Given the description of an element on the screen output the (x, y) to click on. 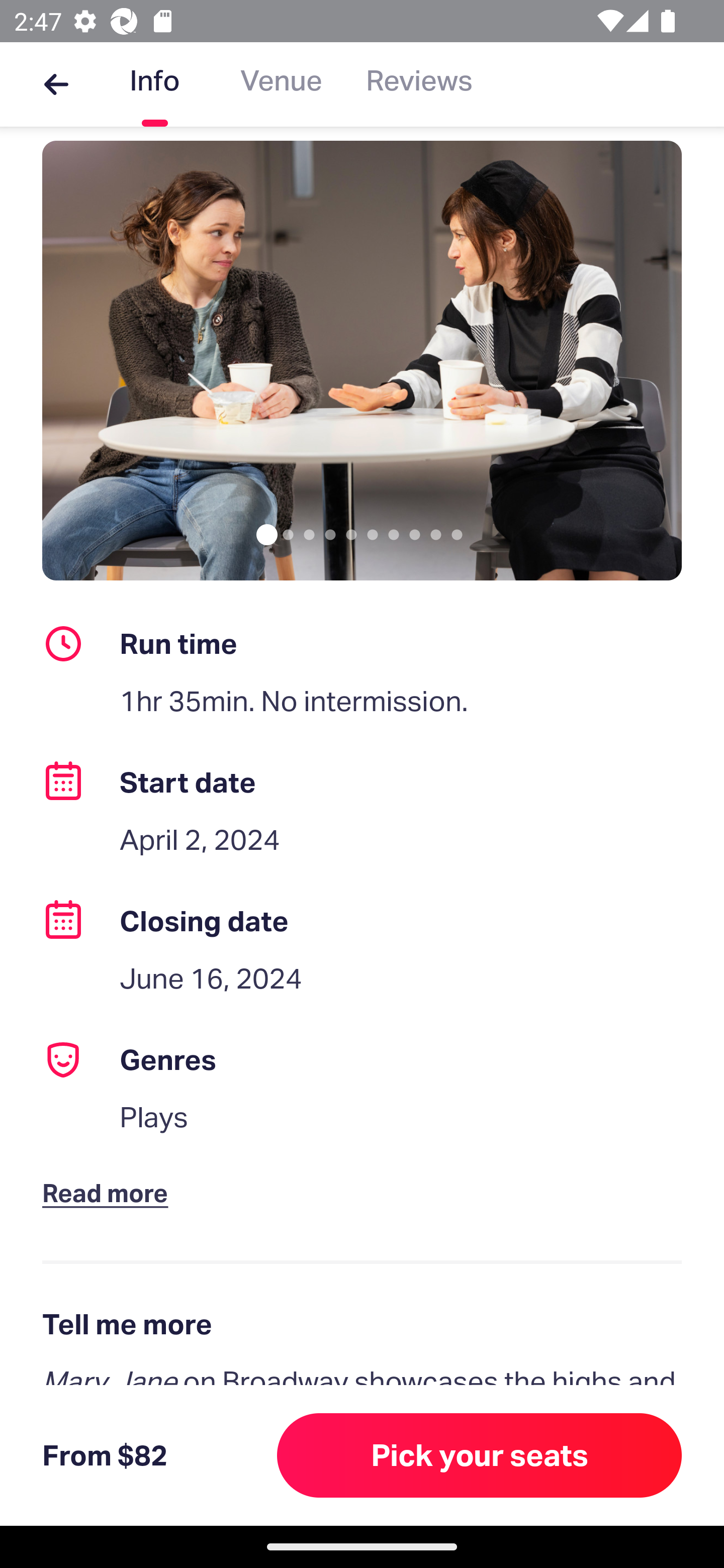
Venue (280, 84)
Reviews (419, 84)
Read more (109, 1176)
Tell me more (361, 1324)
Pick your seats (479, 1454)
